Given the description of an element on the screen output the (x, y) to click on. 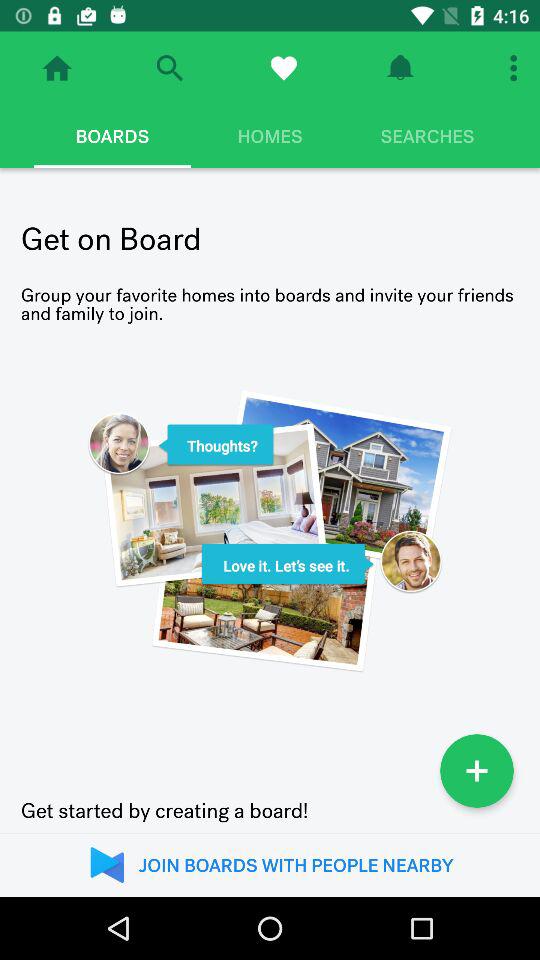
go home (57, 68)
